Given the description of an element on the screen output the (x, y) to click on. 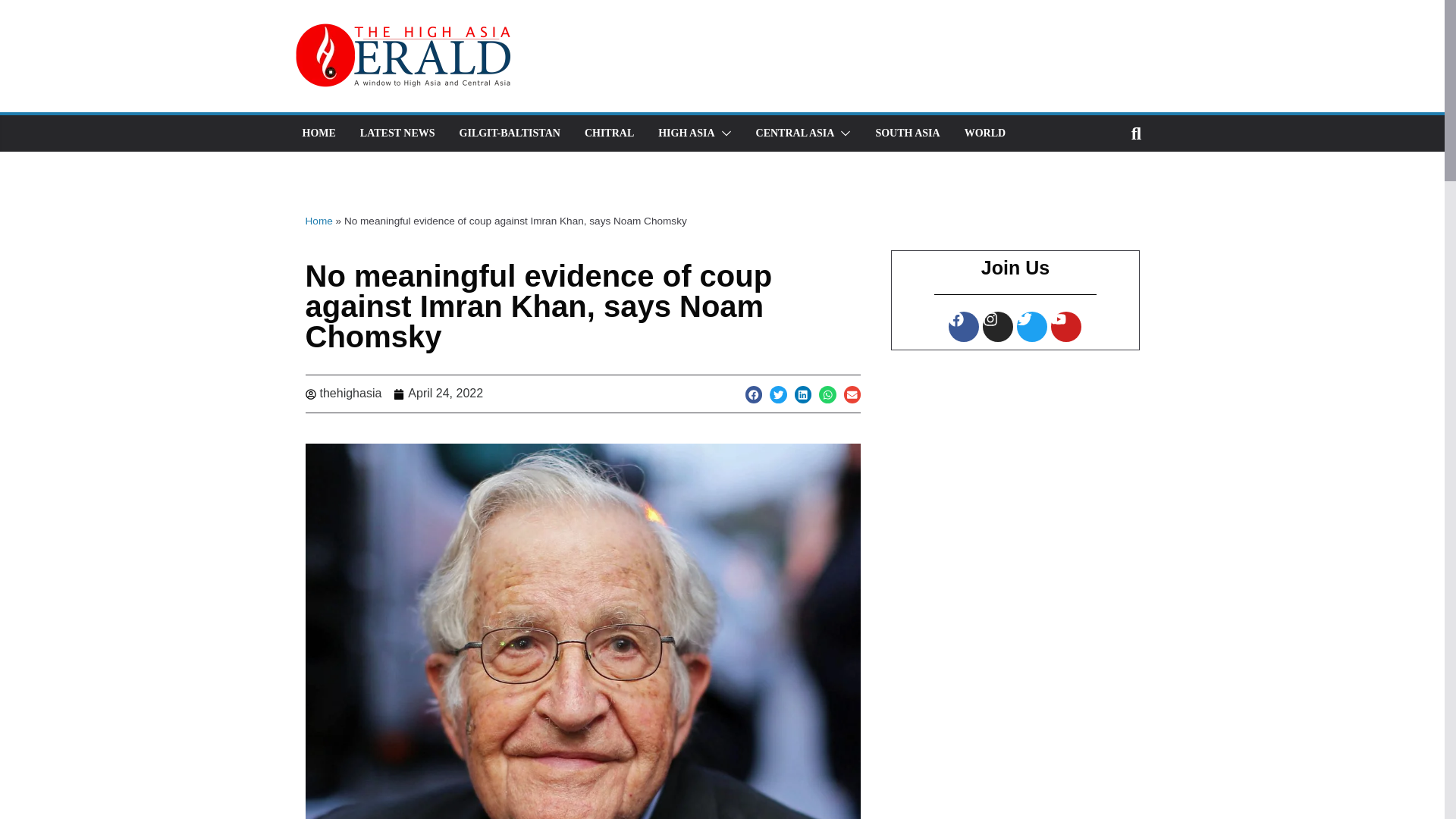
LATEST NEWS (397, 133)
GILGIT-BALTISTAN (510, 133)
Home (317, 220)
SOUTH ASIA (907, 133)
HIGH ASIA (686, 133)
HOME (317, 133)
April 24, 2022 (438, 393)
CENTRAL ASIA (794, 133)
thehighasia (342, 393)
WORLD (984, 133)
